Given the description of an element on the screen output the (x, y) to click on. 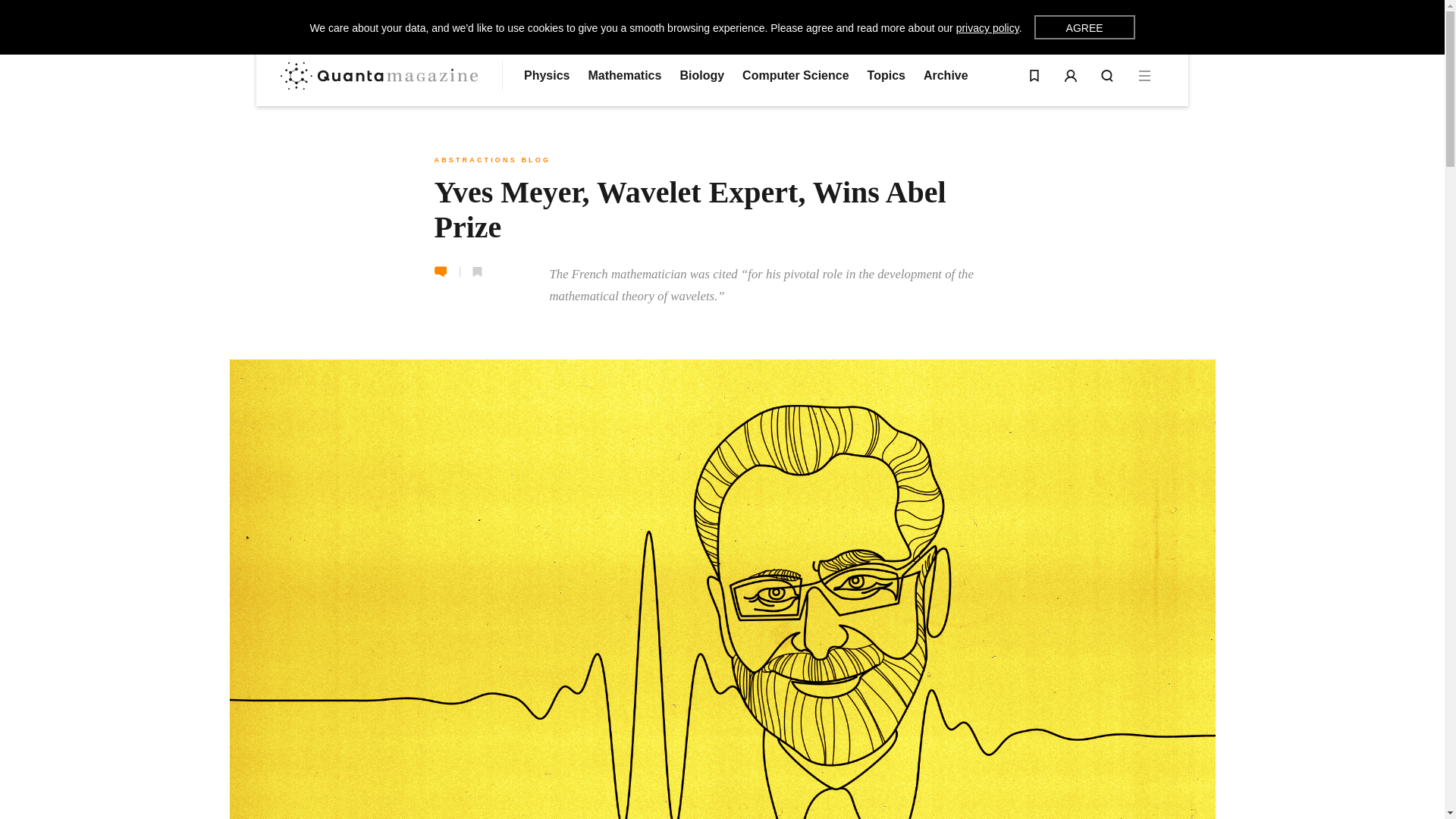
ABSTRACTIONS BLOG (491, 159)
Computer Science (795, 75)
AGREE (1084, 27)
Saved articles (1034, 75)
Mathematics (624, 75)
Saved articles (1034, 75)
privacy policy (987, 28)
Login (1070, 75)
Search (1106, 75)
Search (1106, 75)
Login (1070, 75)
